Given the description of an element on the screen output the (x, y) to click on. 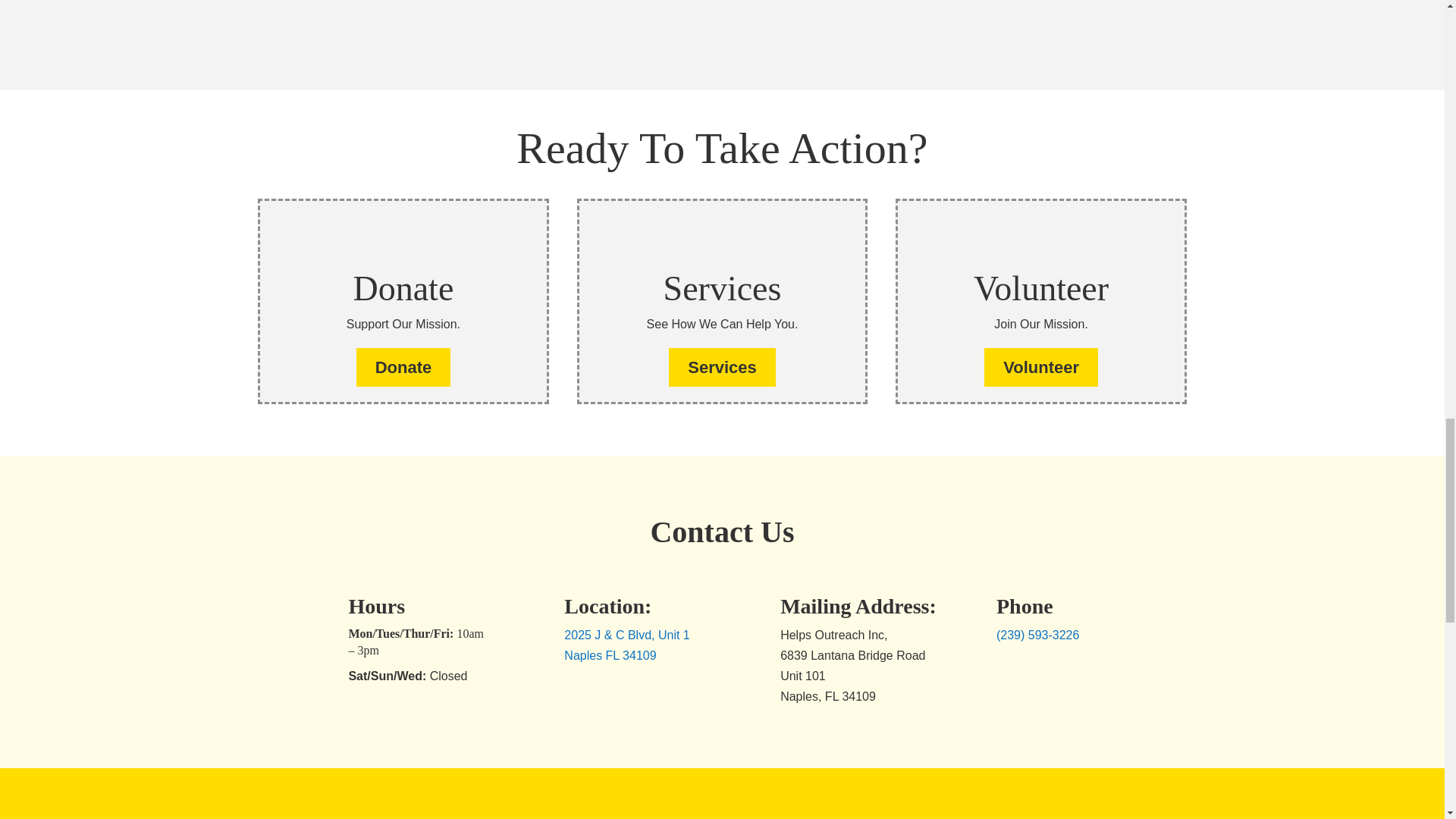
Donate (403, 367)
Volunteer (1040, 367)
Services (722, 367)
